Given the description of an element on the screen output the (x, y) to click on. 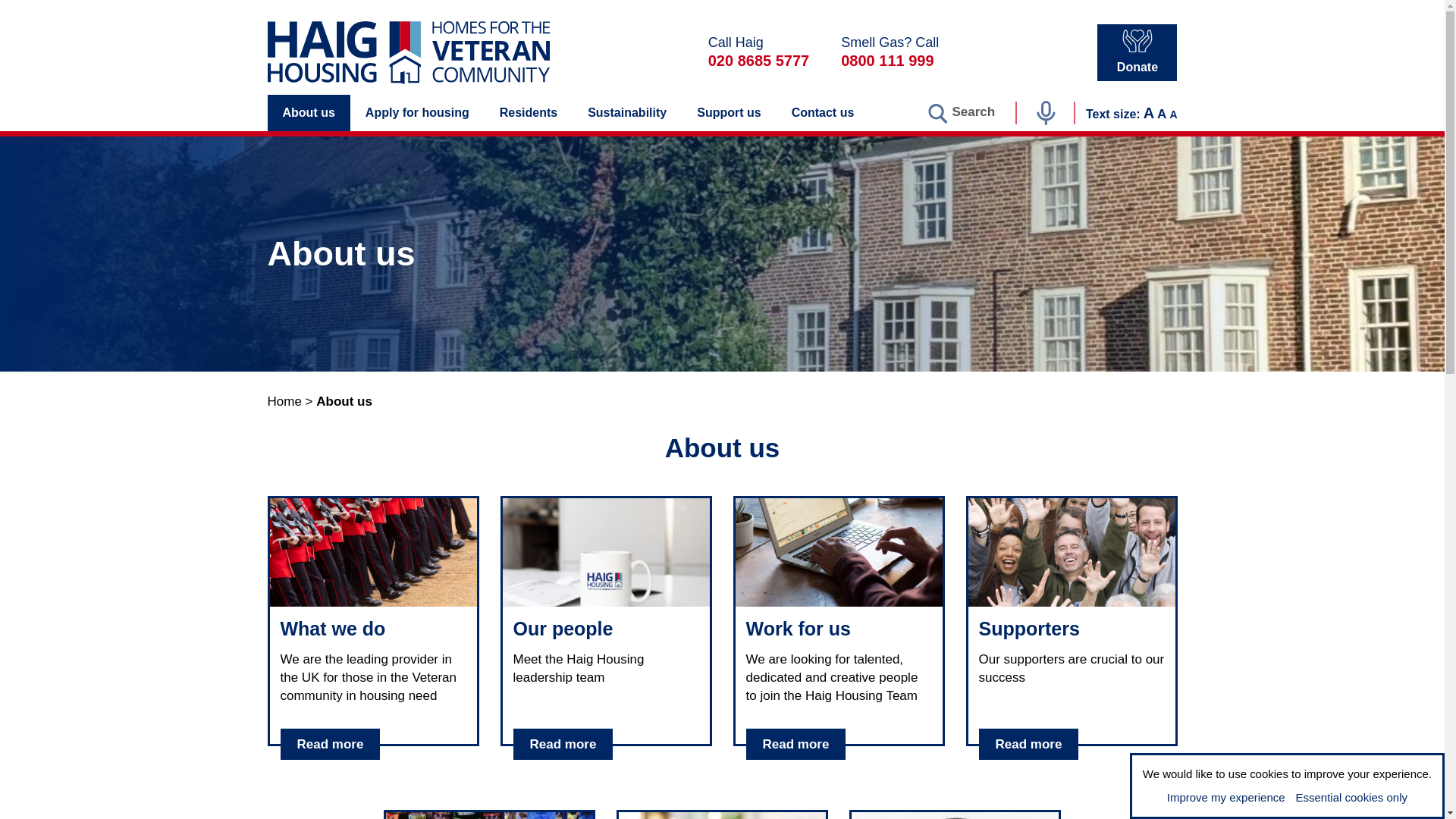
020 8685 5777 (758, 60)
Donate (1136, 52)
Sustainability (626, 113)
0800 111 999 (887, 60)
About us (307, 113)
Residents (528, 113)
Support us (728, 113)
Apply for housing (417, 113)
